Given the description of an element on the screen output the (x, y) to click on. 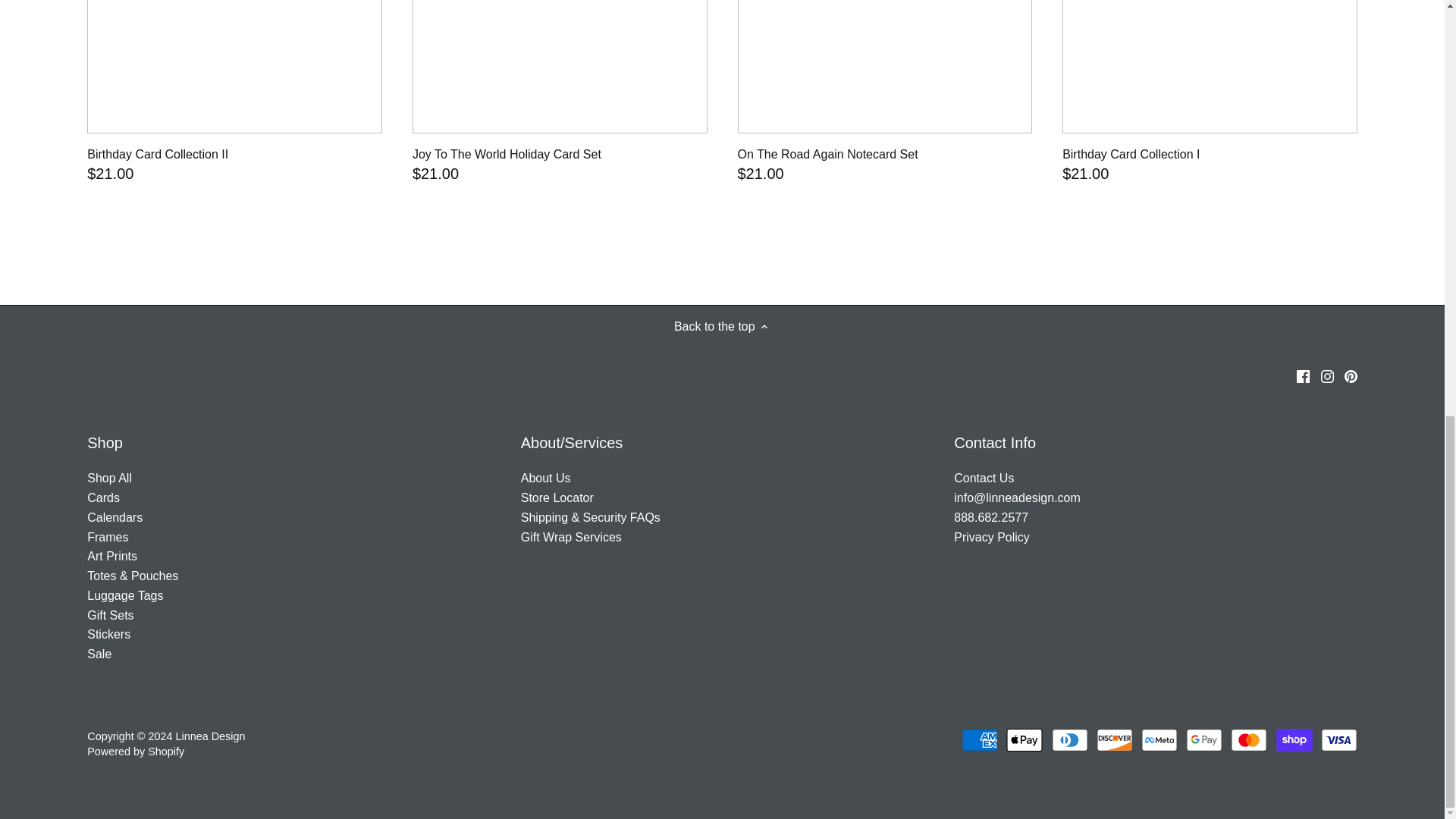
Google Pay (1204, 739)
Diners Club (1069, 739)
Discover (1114, 739)
Facebook (1303, 376)
Mastercard (1248, 739)
Apple Pay (1024, 739)
Instagram (1326, 376)
Meta Pay (1159, 739)
American Express (978, 739)
Pinterest (1349, 376)
